Given the description of an element on the screen output the (x, y) to click on. 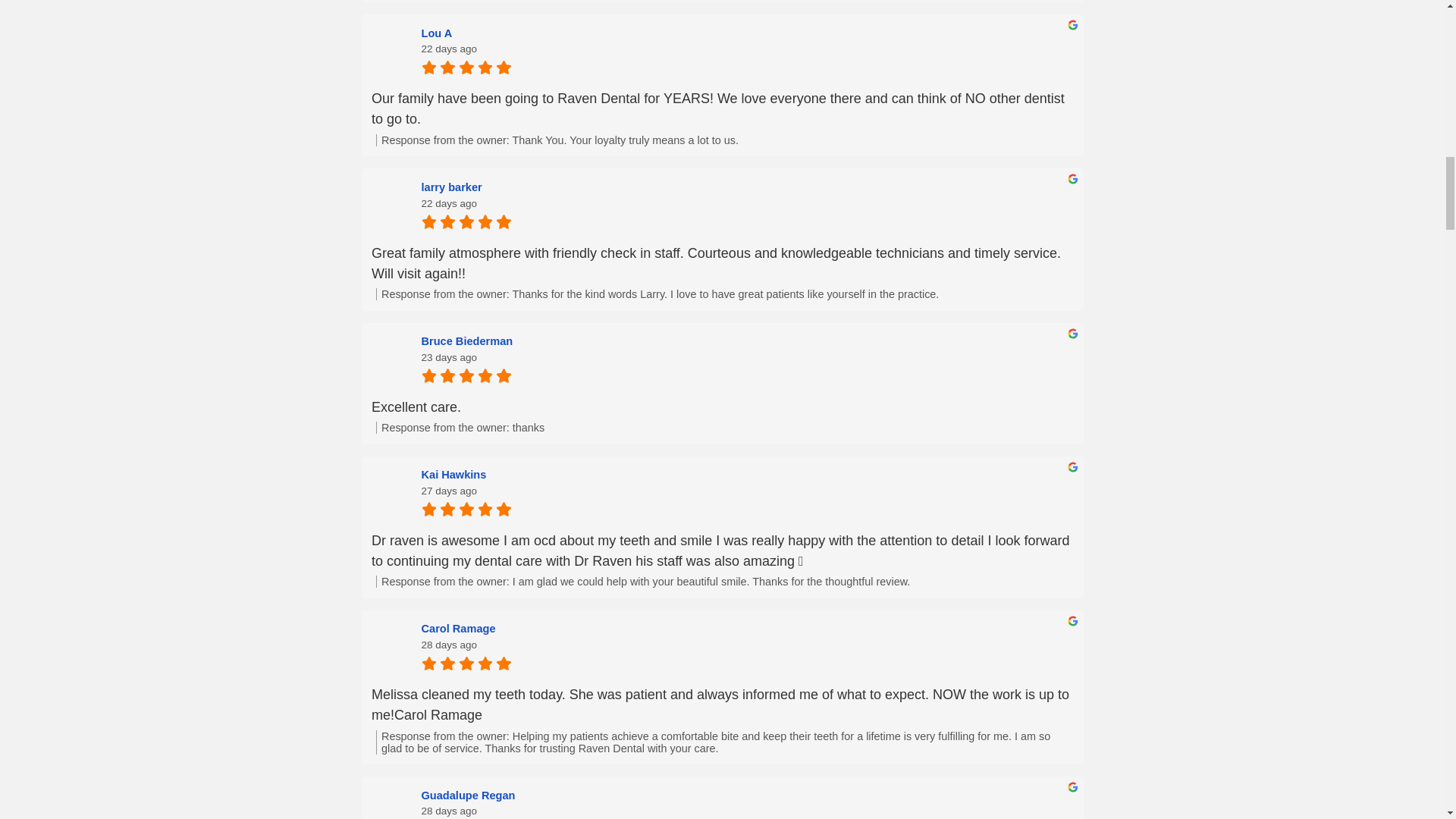
Excellent care. (722, 407)
Response from the owner: thanks (724, 427)
